Given the description of an element on the screen output the (x, y) to click on. 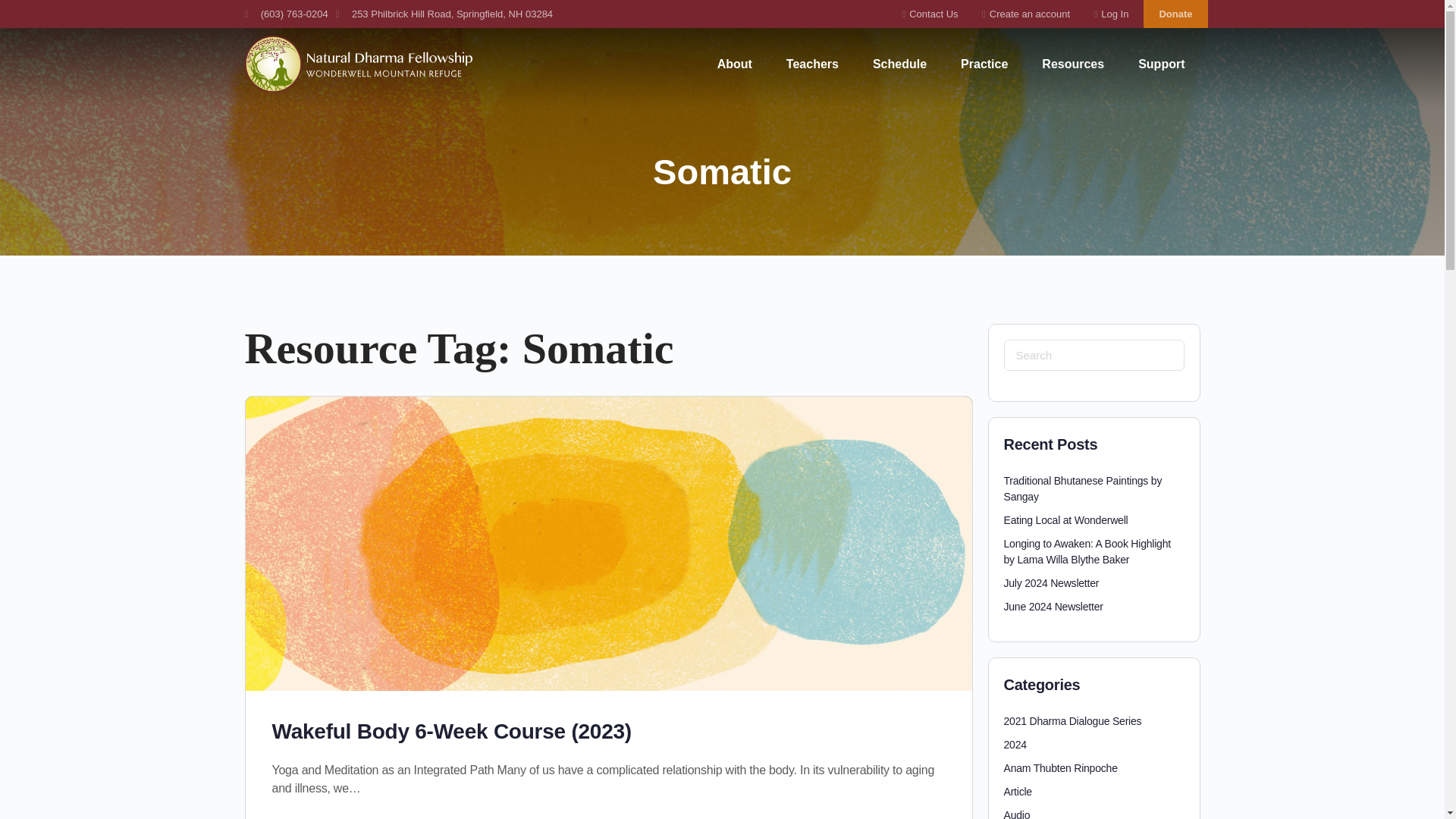
Log In (1106, 13)
Resources (1072, 64)
253 Philbrick Hill Road, Springfield, NH 03284 (444, 14)
Contact Us (925, 13)
Create an account (1022, 13)
Support (1160, 64)
About (734, 64)
Schedule (899, 64)
Practice (983, 64)
Teachers (812, 64)
